Given the description of an element on the screen output the (x, y) to click on. 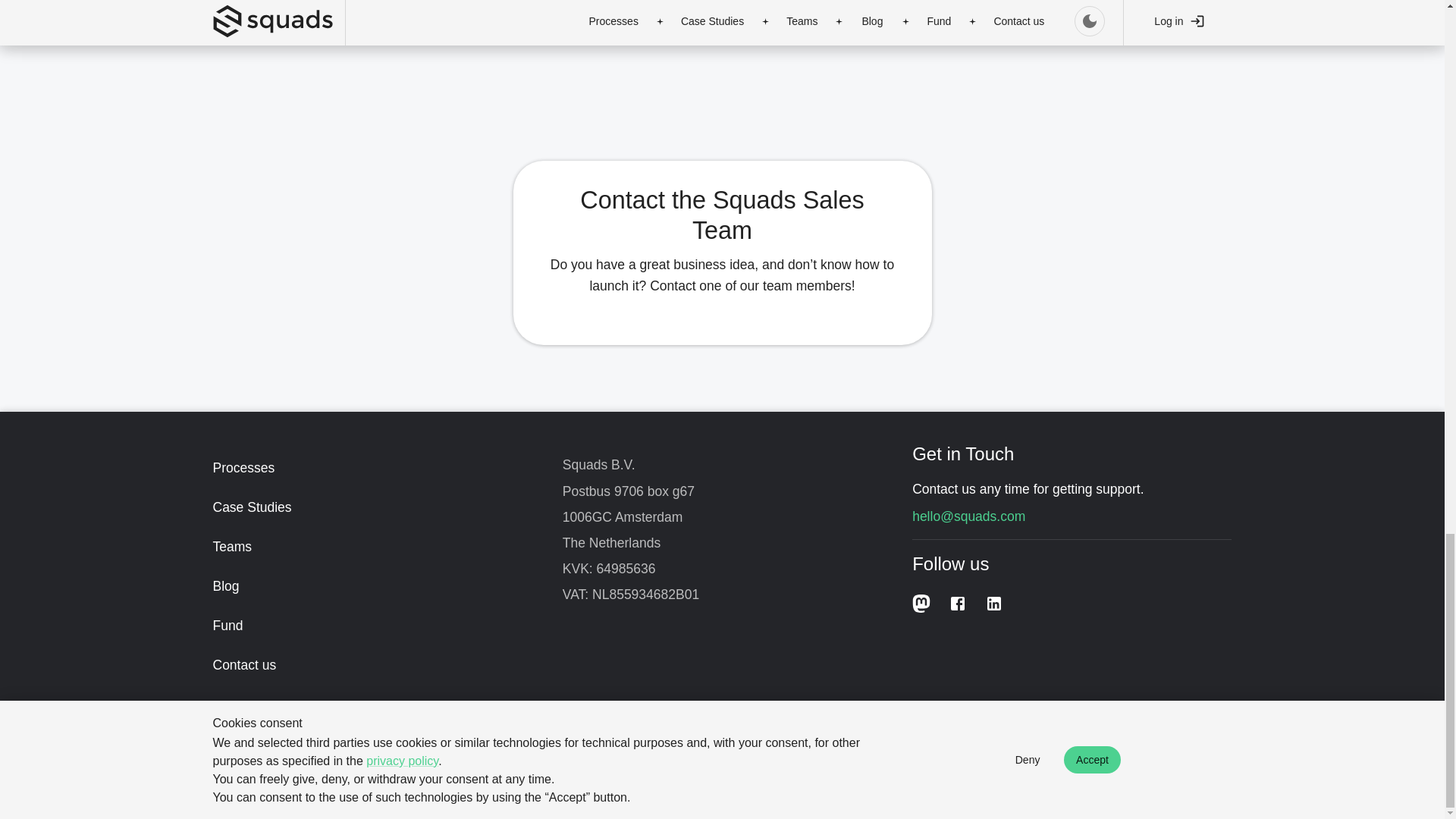
Fund (371, 625)
Processes (371, 467)
Contact us (371, 664)
Case Studies (371, 507)
64985636 (626, 568)
Teams (371, 546)
Blog (371, 586)
